Given the description of an element on the screen output the (x, y) to click on. 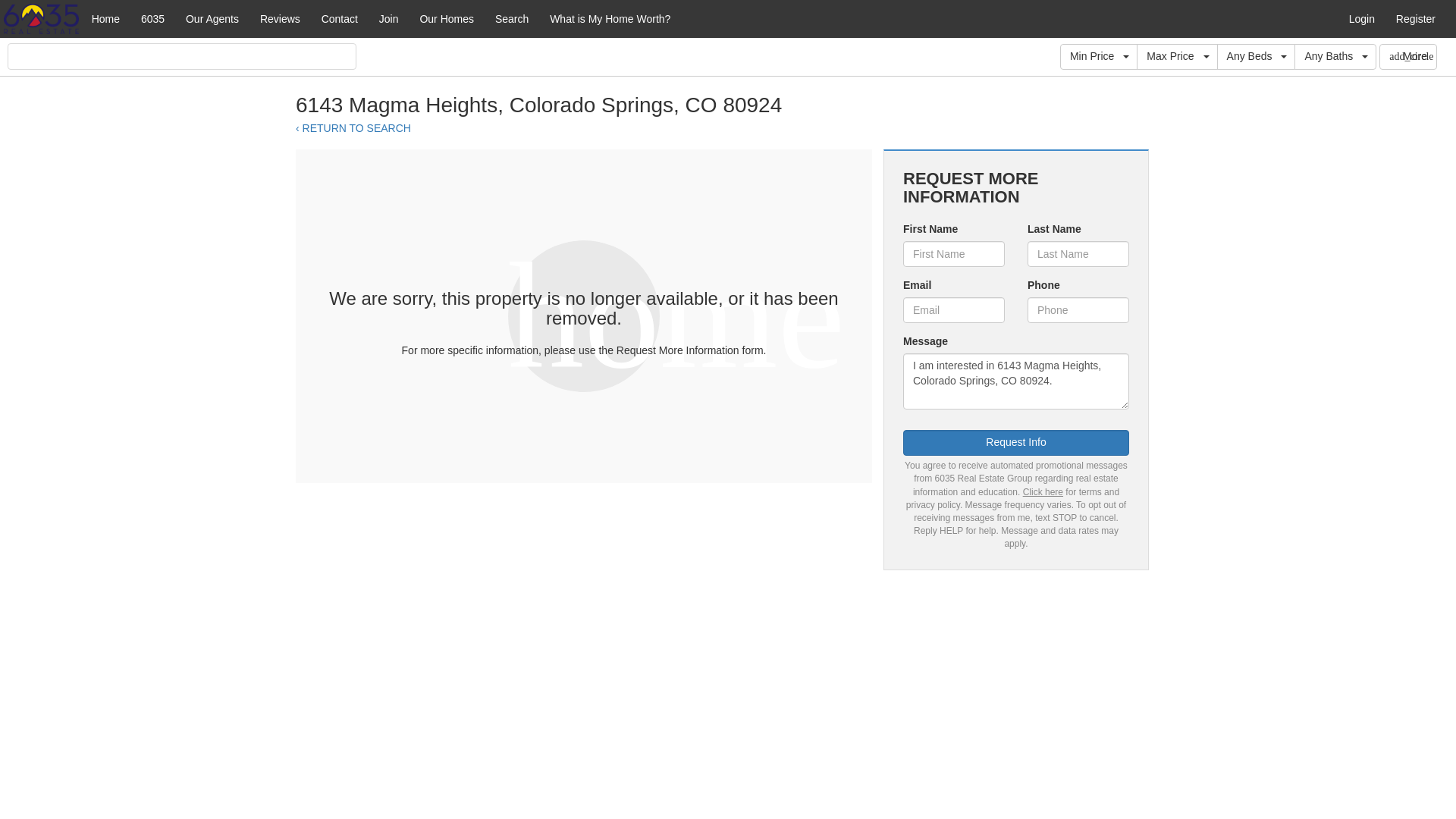
Search (511, 18)
Reviews (279, 18)
Our Agents (211, 18)
Contact (339, 18)
Our Homes (446, 18)
What is My Home Worth? (609, 18)
Join (388, 18)
6035 (152, 18)
Min Price (1098, 56)
Login (1361, 18)
